Given the description of an element on the screen output the (x, y) to click on. 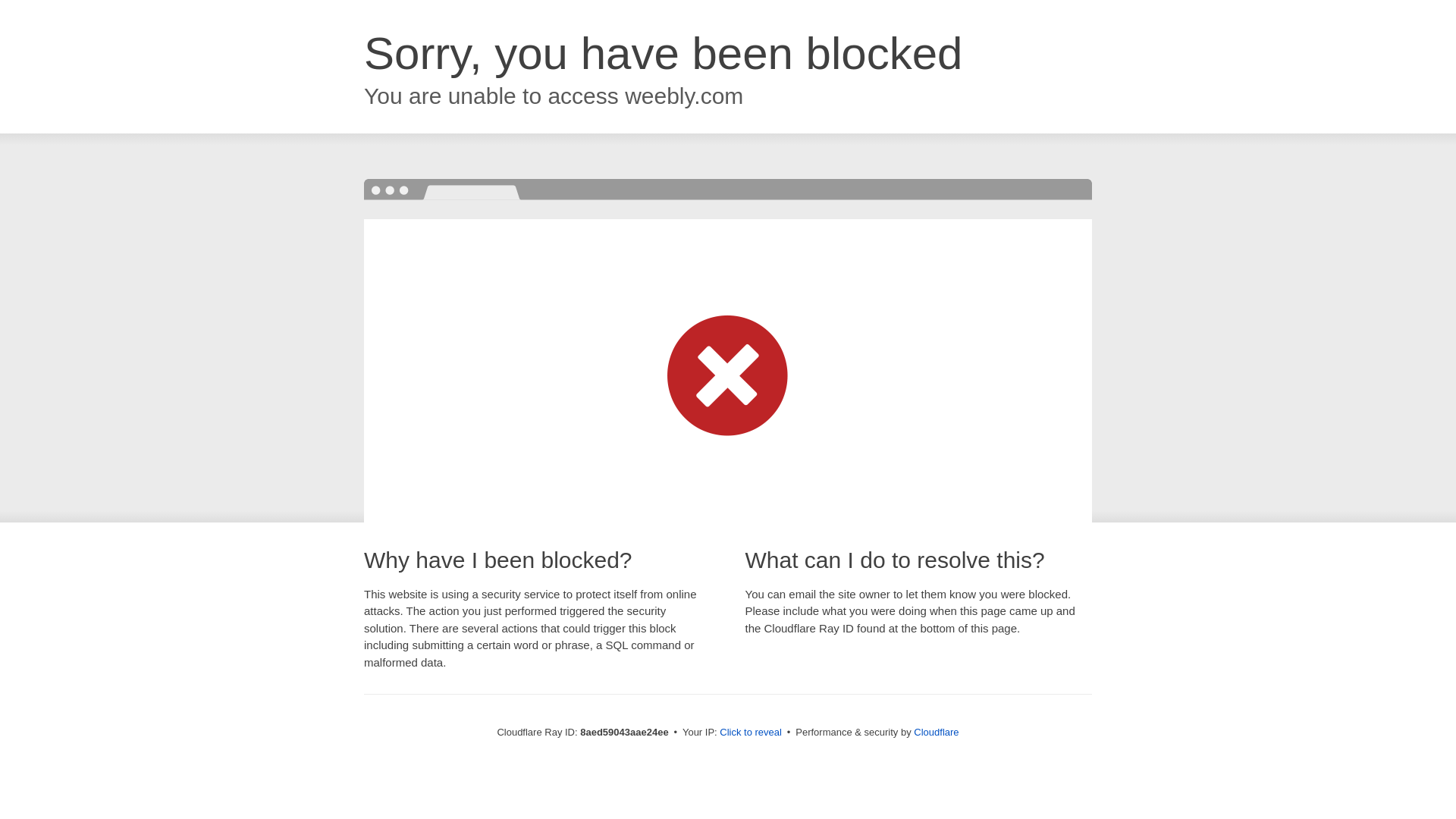
Cloudflare (936, 731)
Click to reveal (750, 732)
